Given the description of an element on the screen output the (x, y) to click on. 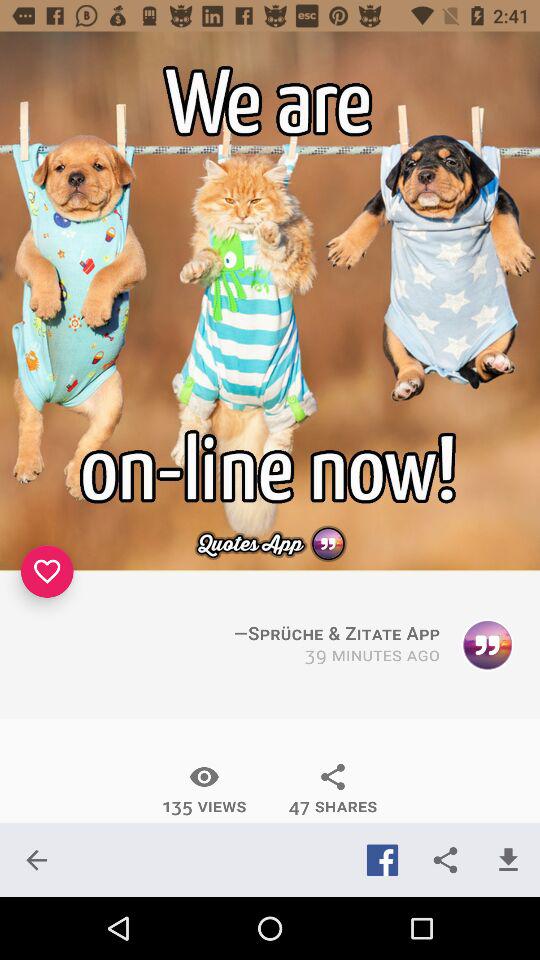
like it (47, 571)
